Given the description of an element on the screen output the (x, y) to click on. 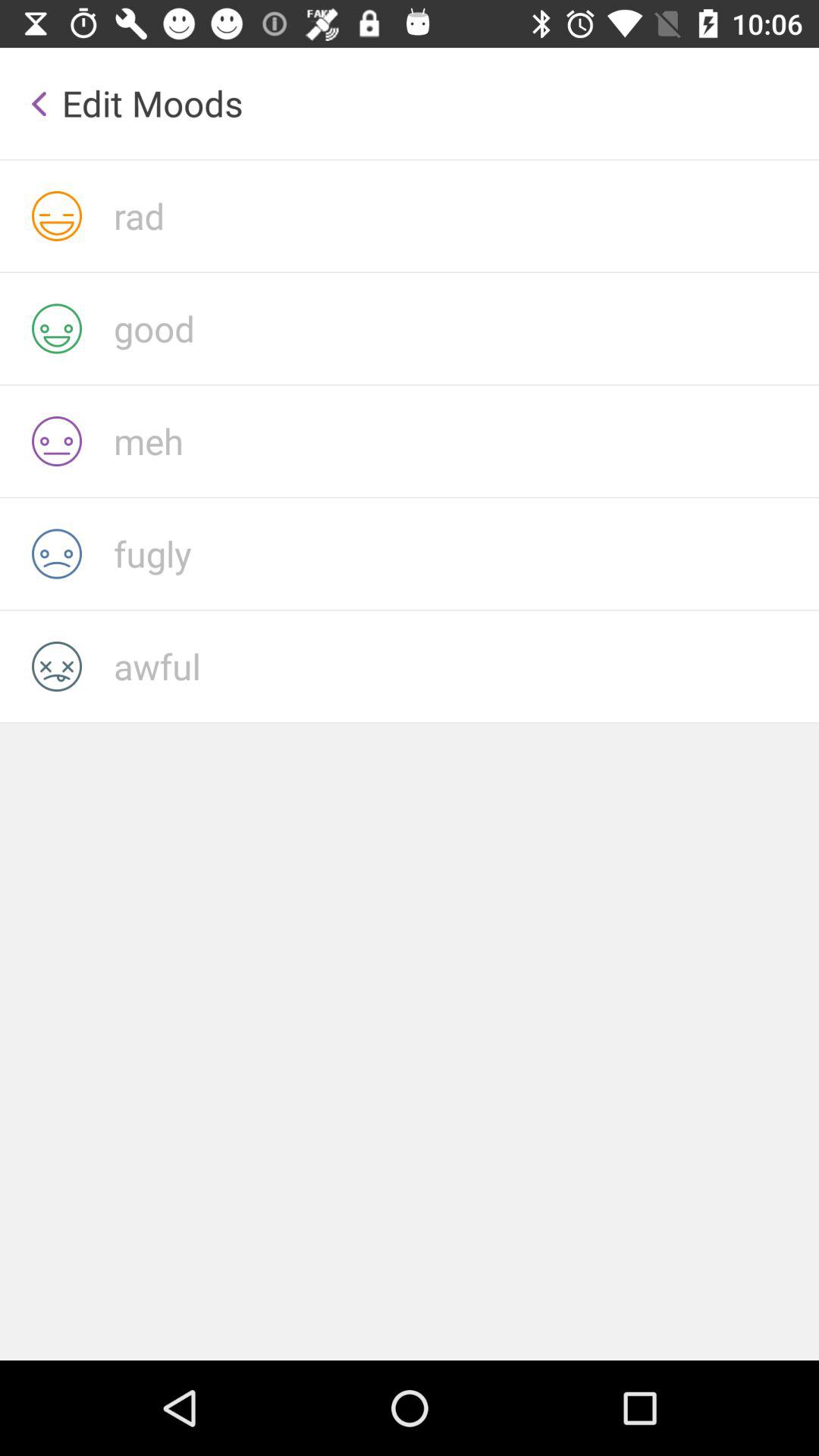
meh mood icon (466, 441)
